Given the description of an element on the screen output the (x, y) to click on. 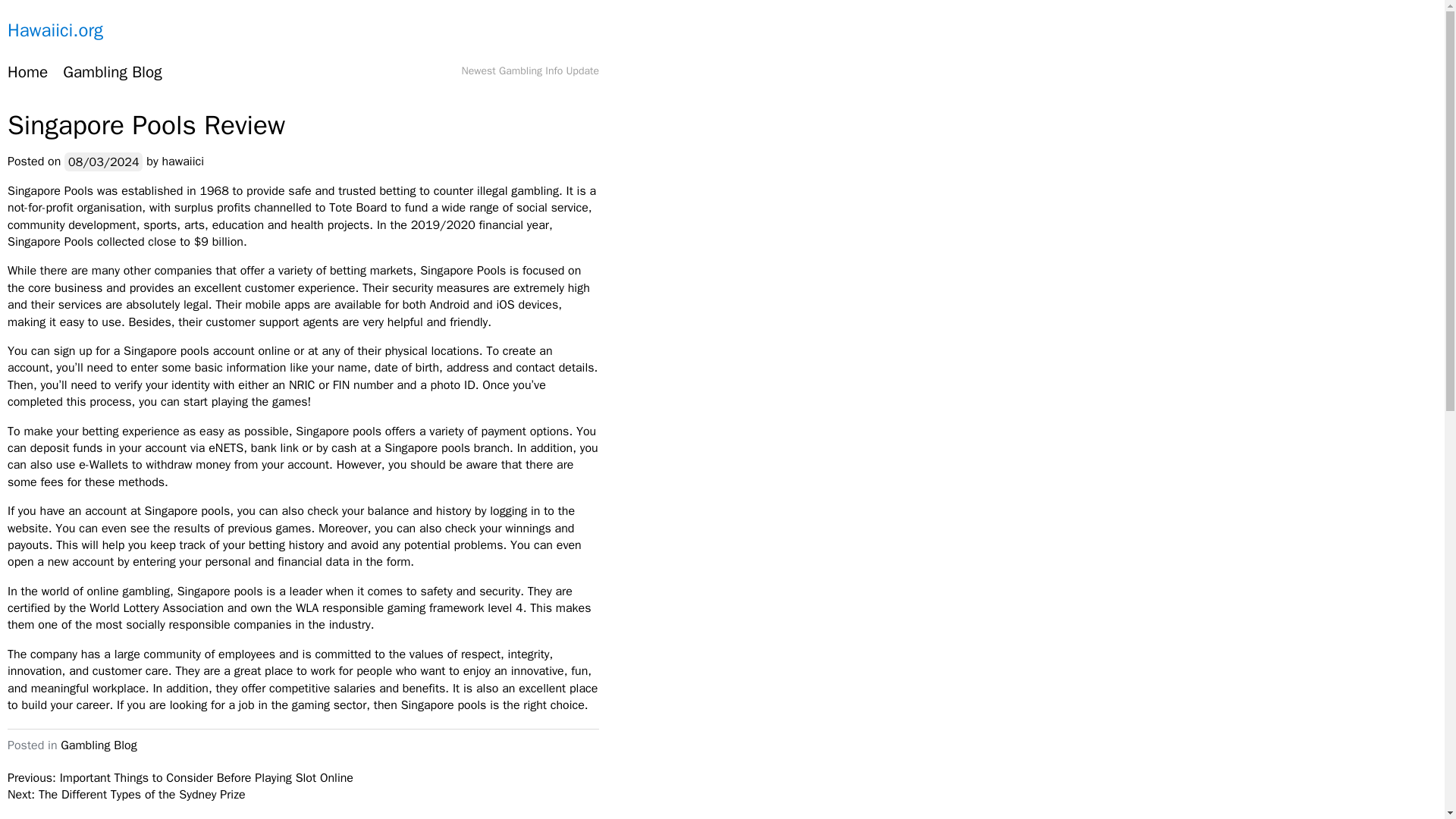
Next: The Different Types of the Sydney Prize (126, 794)
hawaiici (182, 160)
Gambling Blog (111, 73)
Gambling Blog (98, 744)
Home (27, 73)
Hawaiici.org (55, 29)
